Given the description of an element on the screen output the (x, y) to click on. 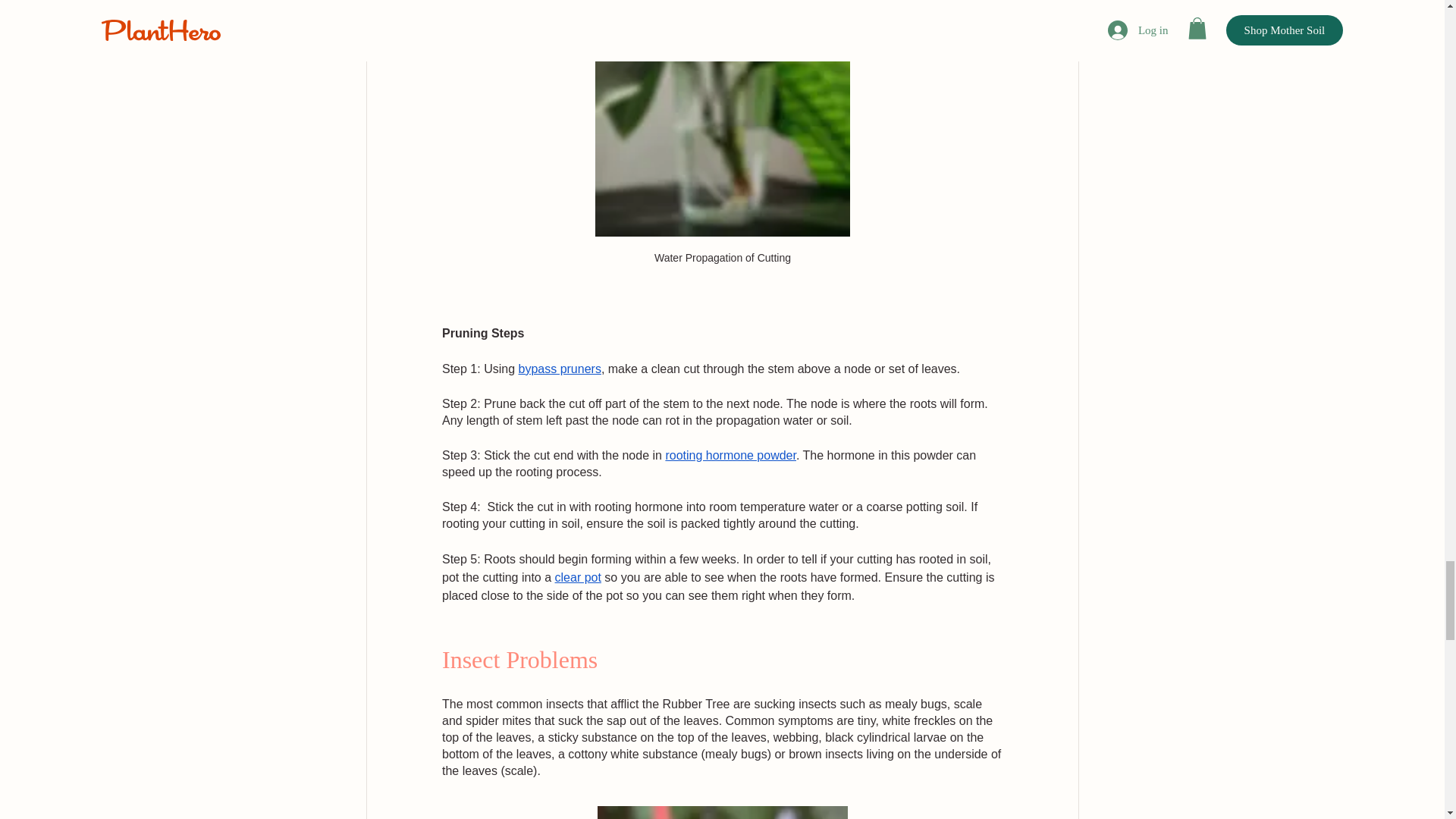
rooting hormone powder (730, 454)
bypass pruners (558, 368)
clear pot (576, 576)
